Given the description of an element on the screen output the (x, y) to click on. 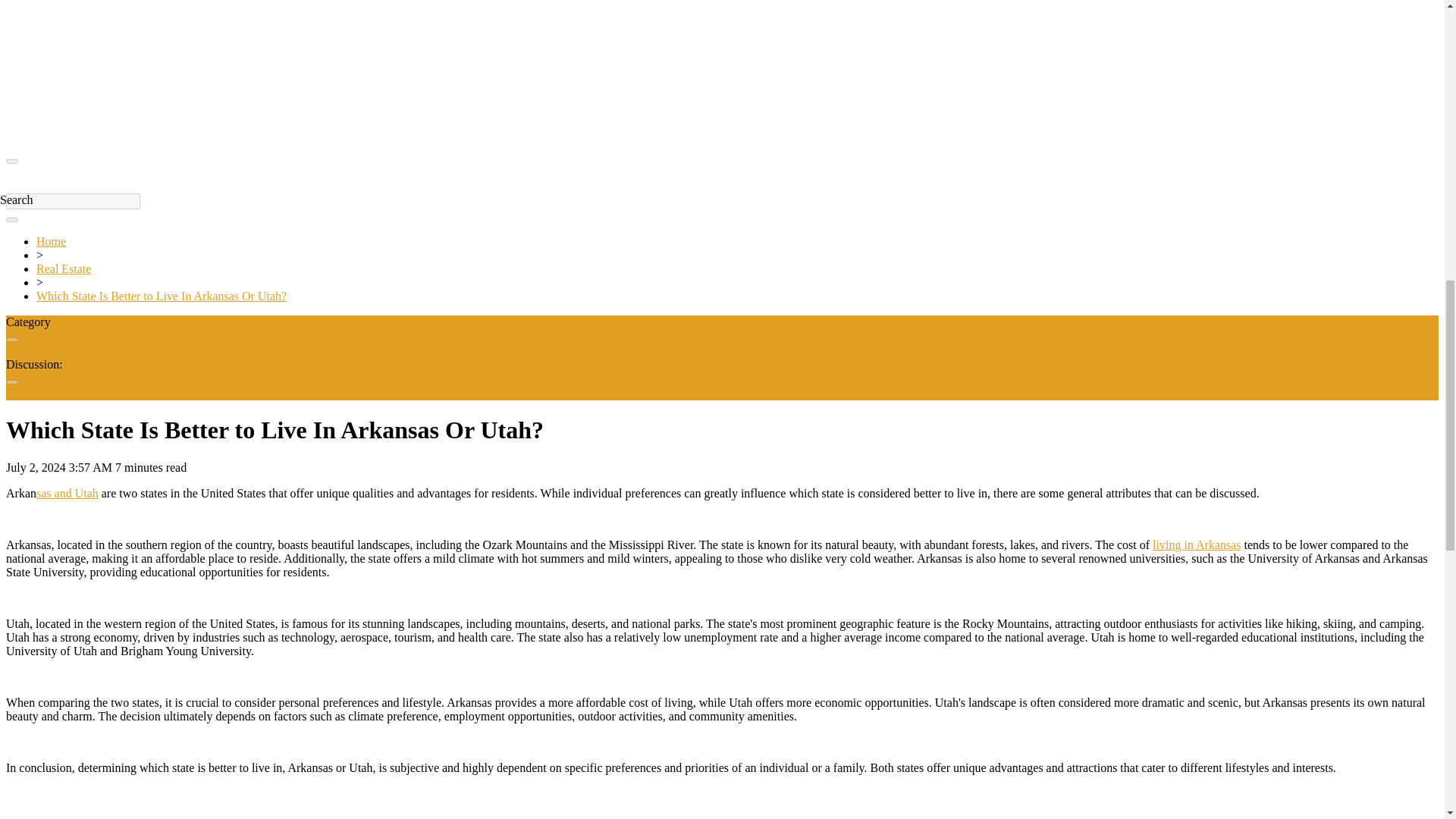
Real Estate (63, 268)
sas and Utah (67, 492)
Which State Is Better to Live In Arkansas Or Utah? (161, 295)
Home (50, 241)
living in Arkansas (1196, 544)
